Given the description of an element on the screen output the (x, y) to click on. 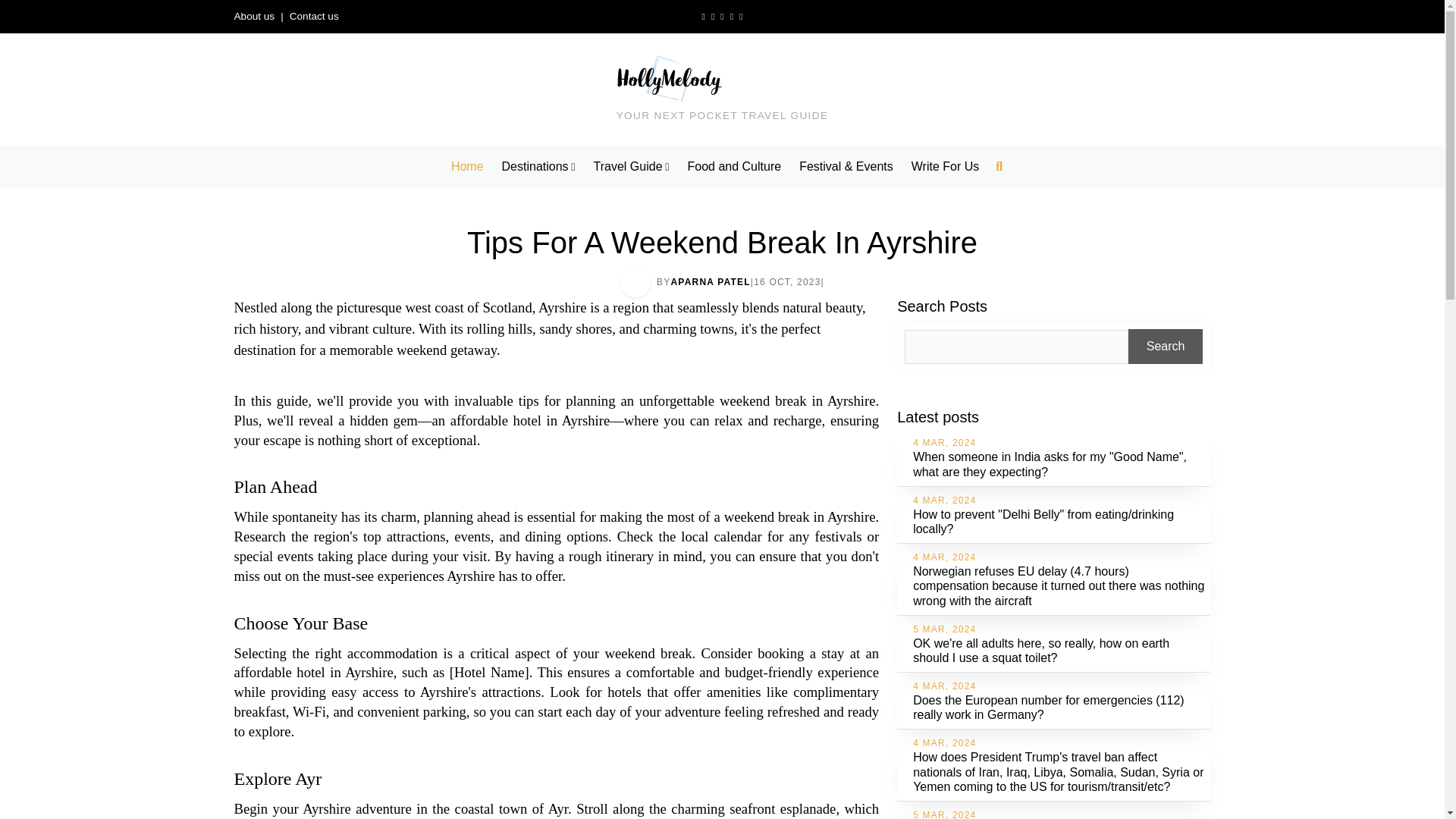
Home (467, 166)
About us (253, 16)
Destinations (538, 166)
YOUR NEXT POCKET TRAVEL GUIDE (721, 89)
Contact us (314, 16)
